Given the description of an element on the screen output the (x, y) to click on. 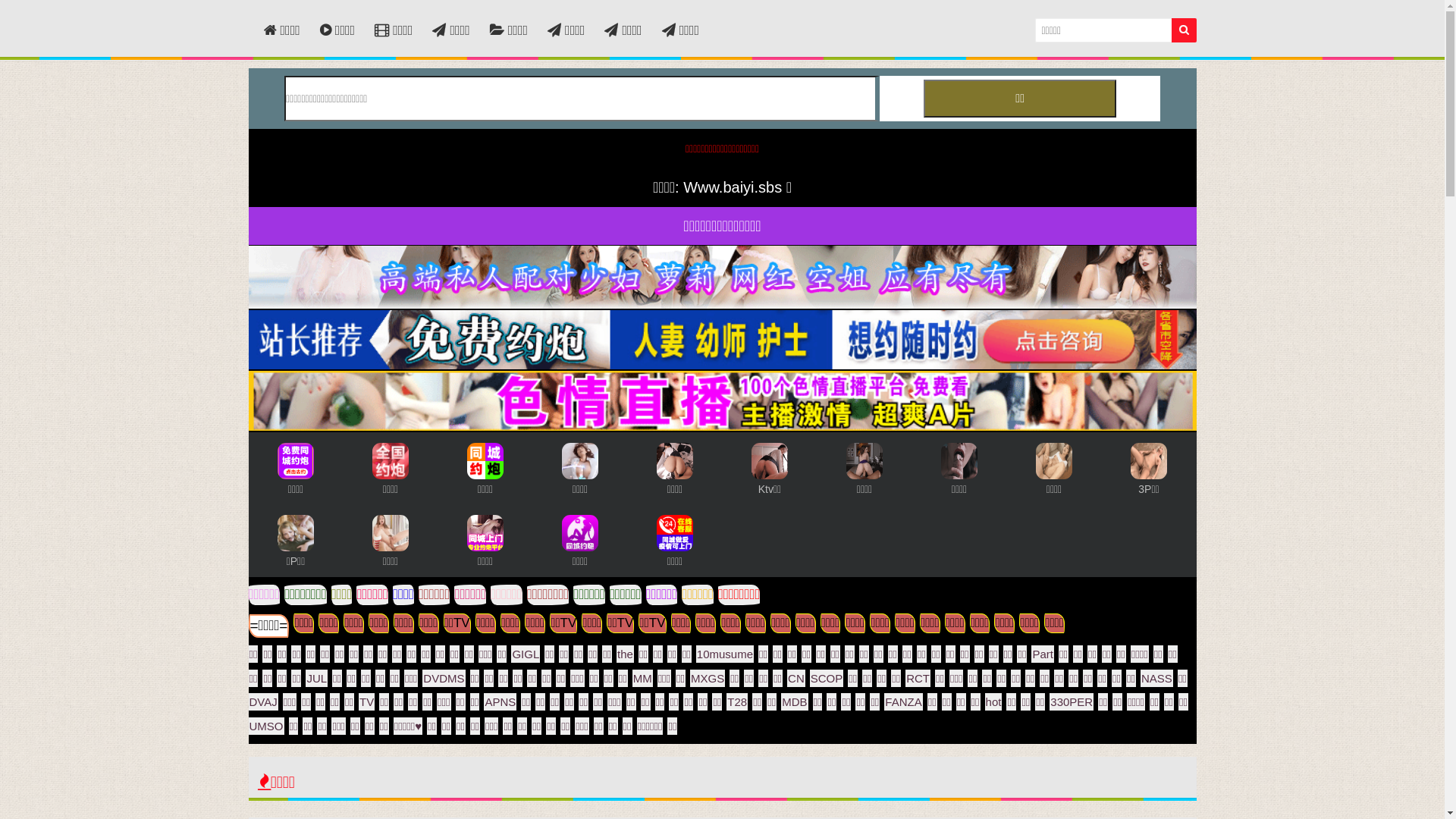
NASS Element type: text (1158, 675)
DVDMS Element type: text (445, 675)
MDB Element type: text (796, 699)
FANZA Element type: text (905, 699)
MM Element type: text (644, 675)
10musume Element type: text (727, 652)
GIGL Element type: text (527, 652)
hot Element type: text (996, 699)
Part Element type: text (1044, 652)
T28 Element type: text (739, 699)
the Element type: text (627, 652)
CN Element type: text (798, 675)
330PER Element type: text (1073, 699)
APNS Element type: text (501, 699)
UMSO Element type: text (268, 723)
TV Element type: text (368, 699)
JUL Element type: text (318, 675)
DVAJ Element type: text (265, 699)
SCOP Element type: text (828, 675)
MXGS Element type: text (709, 675)
RCT Element type: text (920, 675)
